Given the description of an element on the screen output the (x, y) to click on. 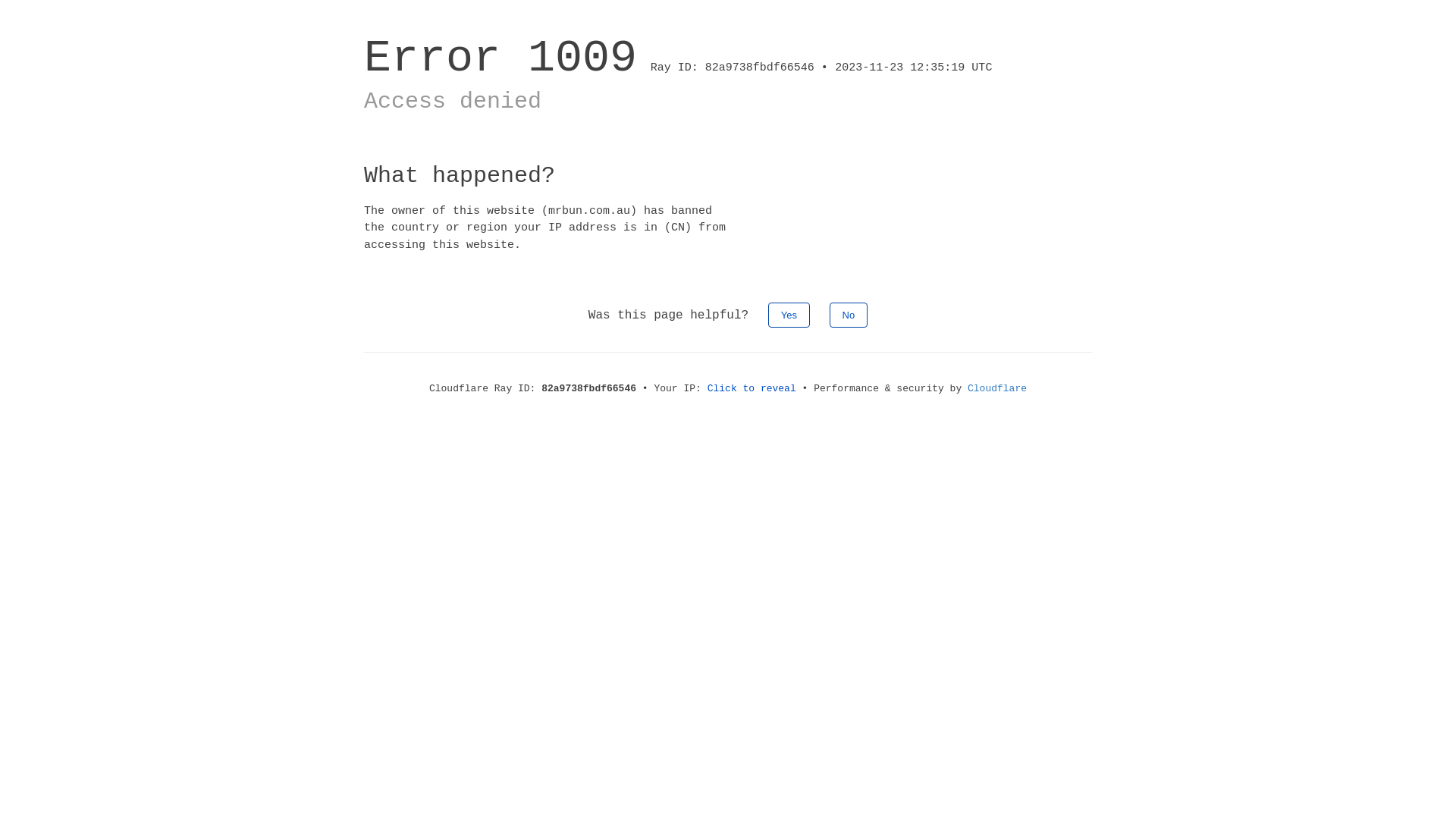
No Element type: text (848, 314)
Click to reveal Element type: text (751, 388)
Cloudflare Element type: text (996, 388)
Yes Element type: text (788, 314)
